Given the description of an element on the screen output the (x, y) to click on. 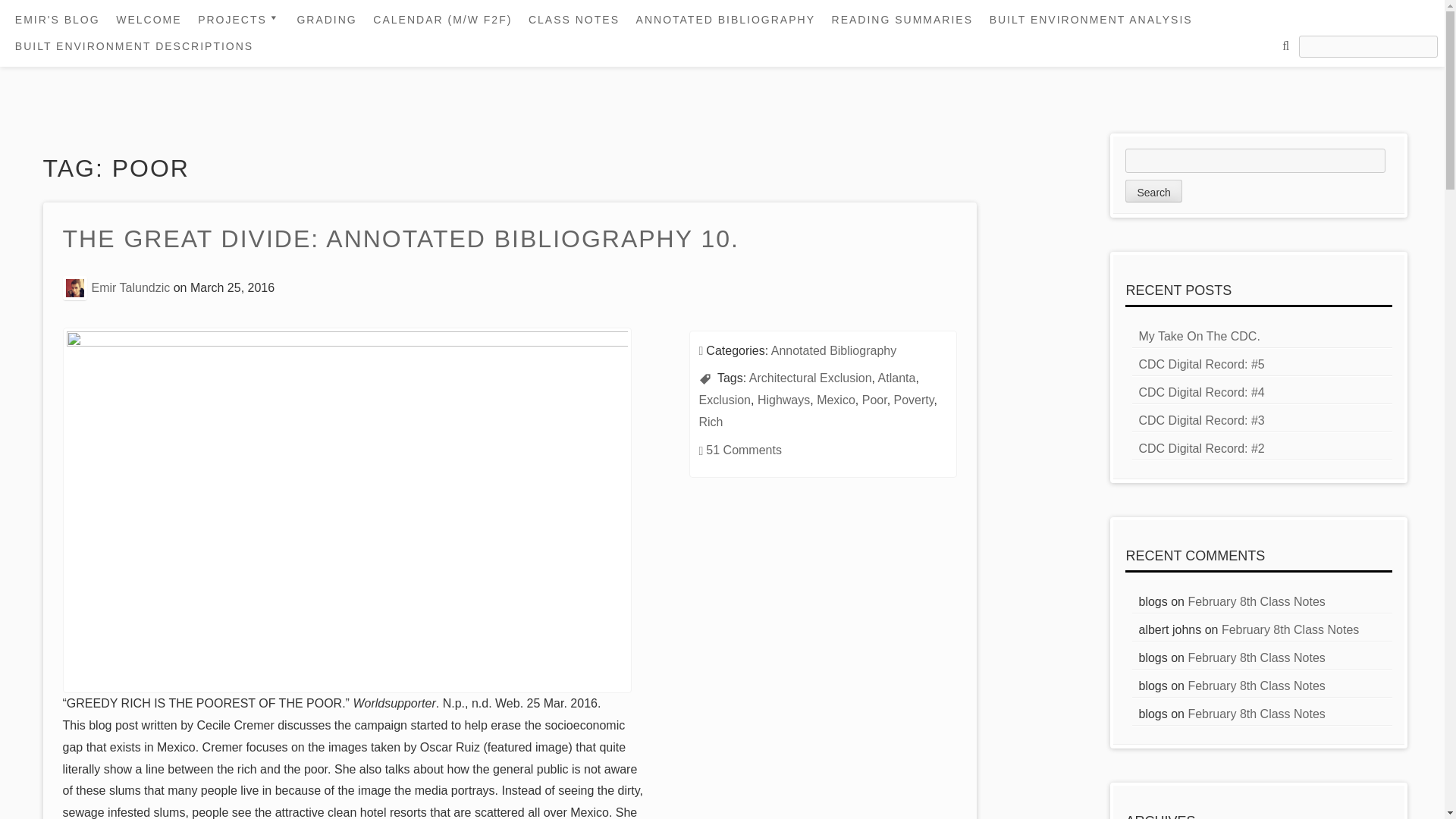
Annotated Bibliography (833, 350)
Architectural Exclusion (810, 377)
ANNOTATED BIBLIOGRAPHY (725, 19)
WELCOME (148, 19)
PARTICIPATION (278, 227)
Atlanta (896, 377)
SUBMISSION FORM (278, 253)
51 Comments (743, 449)
PROJECTS (239, 19)
READING SUMMARIES (901, 19)
BUILT ENVIRONMENT DESCRIPTIONS (133, 46)
Search (1152, 190)
BUILT ENVIRONMENT ANALYSIS (1091, 19)
CLASS NOTES (574, 19)
